Given the description of an element on the screen output the (x, y) to click on. 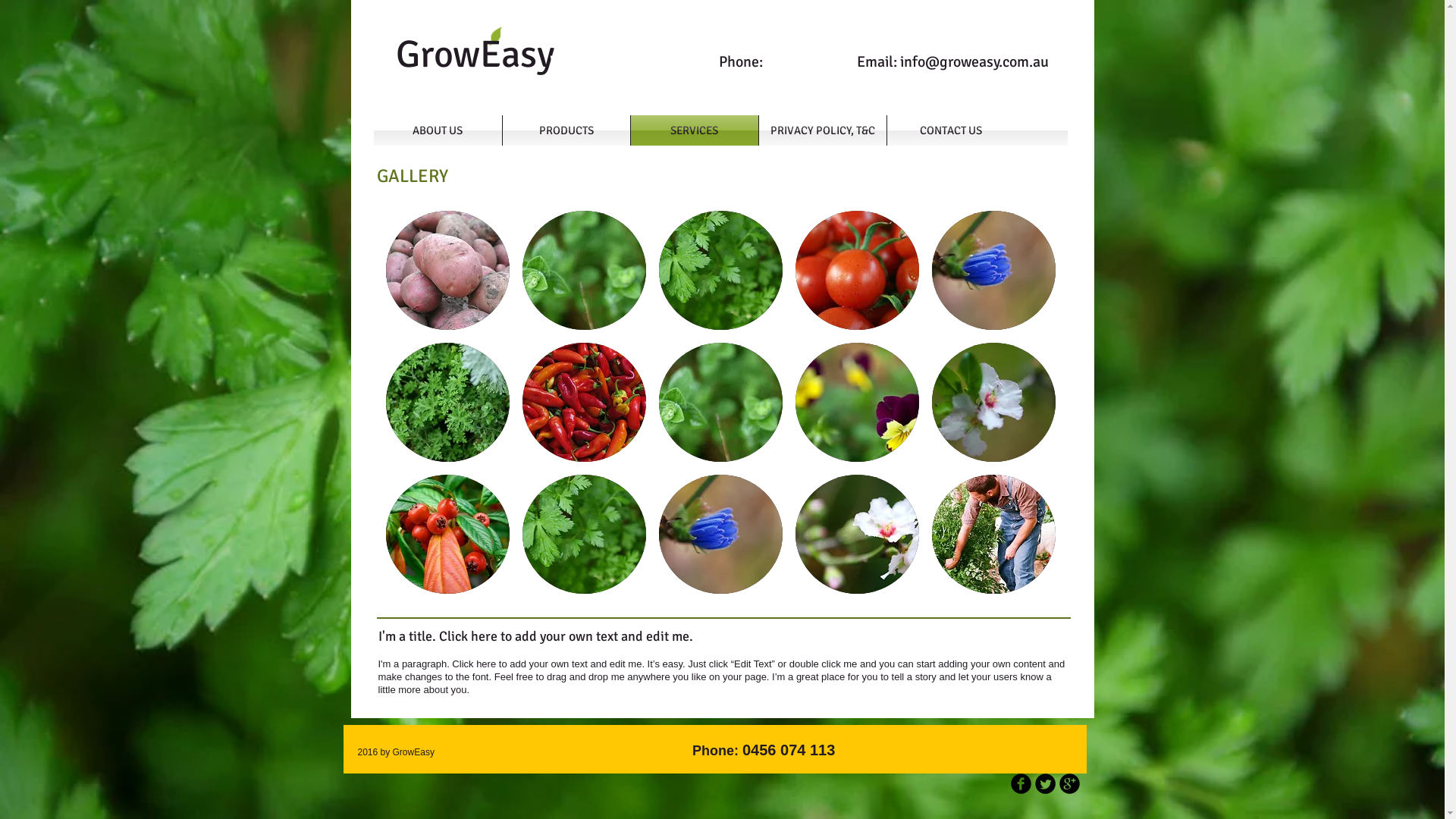
ABOUT US Element type: text (437, 130)
info@groweasy.com.au Element type: text (974, 61)
PRODUCTS Element type: text (565, 130)
CONTACT US Element type: text (950, 130)
SERVICES Element type: text (694, 130)
PRIVACY POLICY, T&C Element type: text (821, 130)
